Given the description of an element on the screen output the (x, y) to click on. 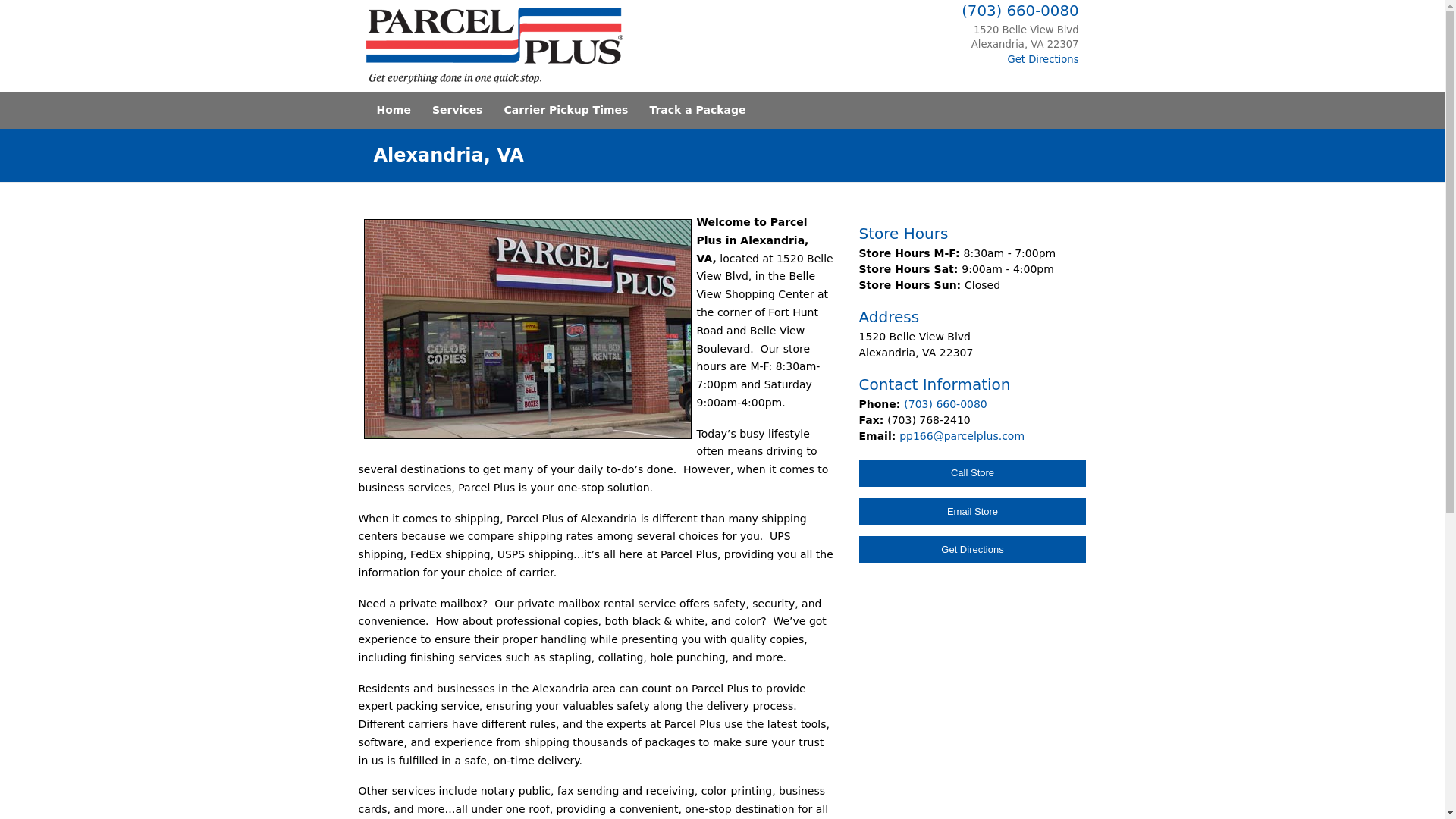
Home (496, 45)
Carrier Pickup Times (566, 109)
Track a Package (697, 109)
Get Directions (1042, 59)
Compare Shipping Rates of UPS, FedEx, and the USPS (527, 328)
Call Store (972, 472)
Get Directions (972, 549)
Email Store (972, 510)
Services (457, 109)
Home (392, 109)
